Given the description of an element on the screen output the (x, y) to click on. 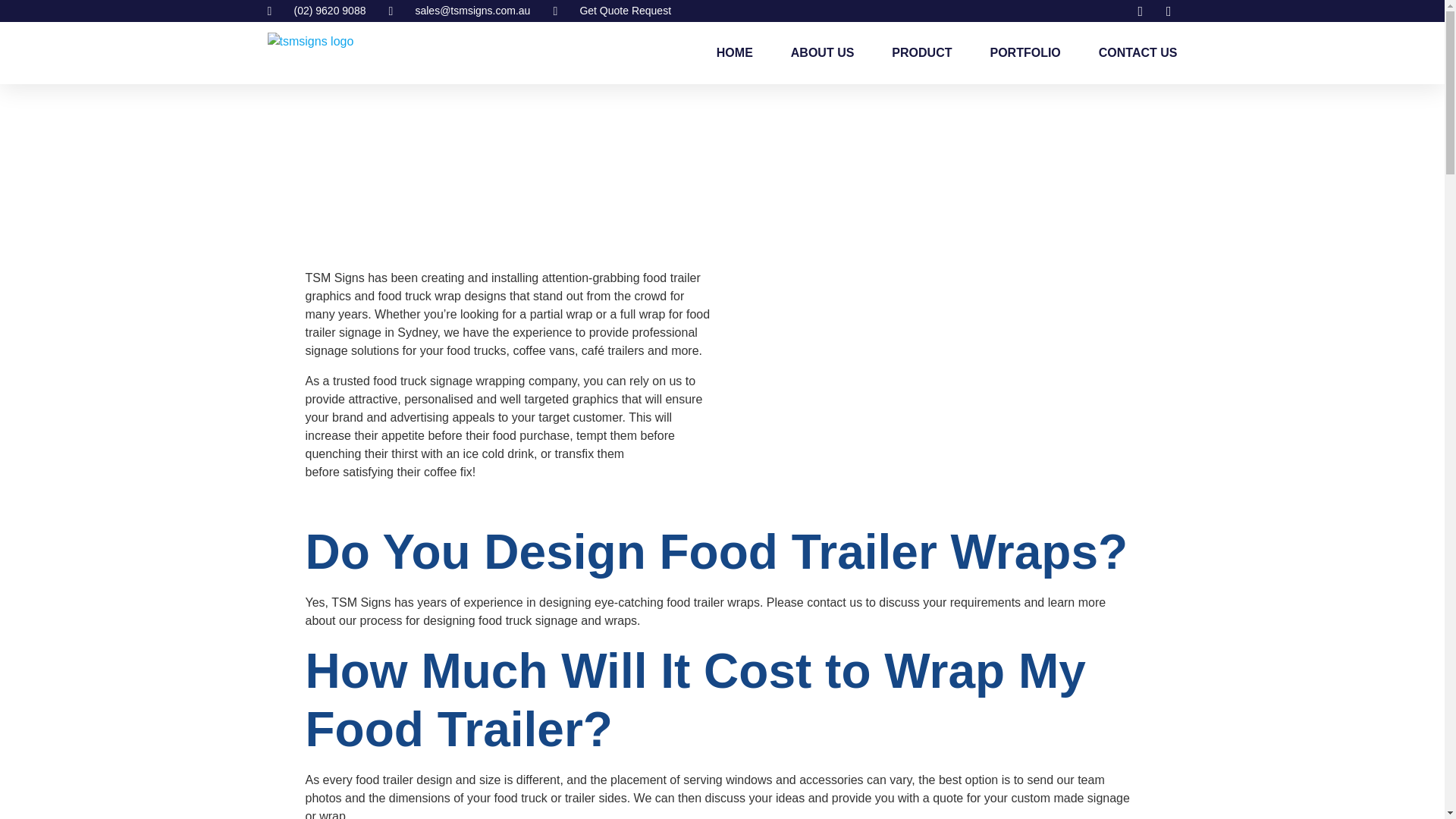
PORTFOLIO (1024, 53)
ABOUT US (822, 53)
PRODUCT (921, 53)
CONTACT US (1138, 53)
HOME (734, 53)
Get Quote Request (612, 10)
